Given the description of an element on the screen output the (x, y) to click on. 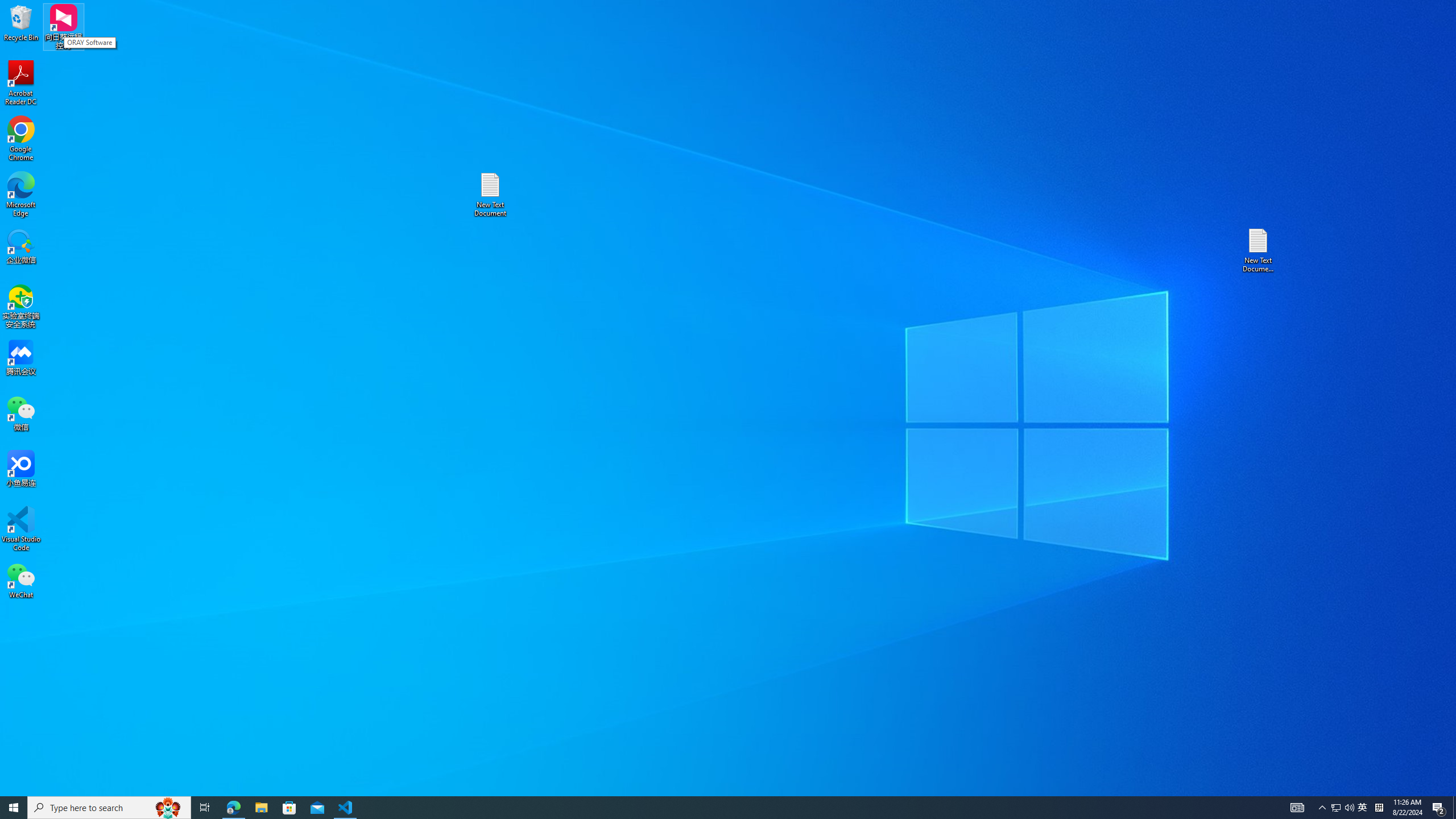
Microsoft Edge - 1 running window (233, 807)
Start (13, 807)
Notification Chevron (1322, 807)
File Explorer (261, 807)
